Given the description of an element on the screen output the (x, y) to click on. 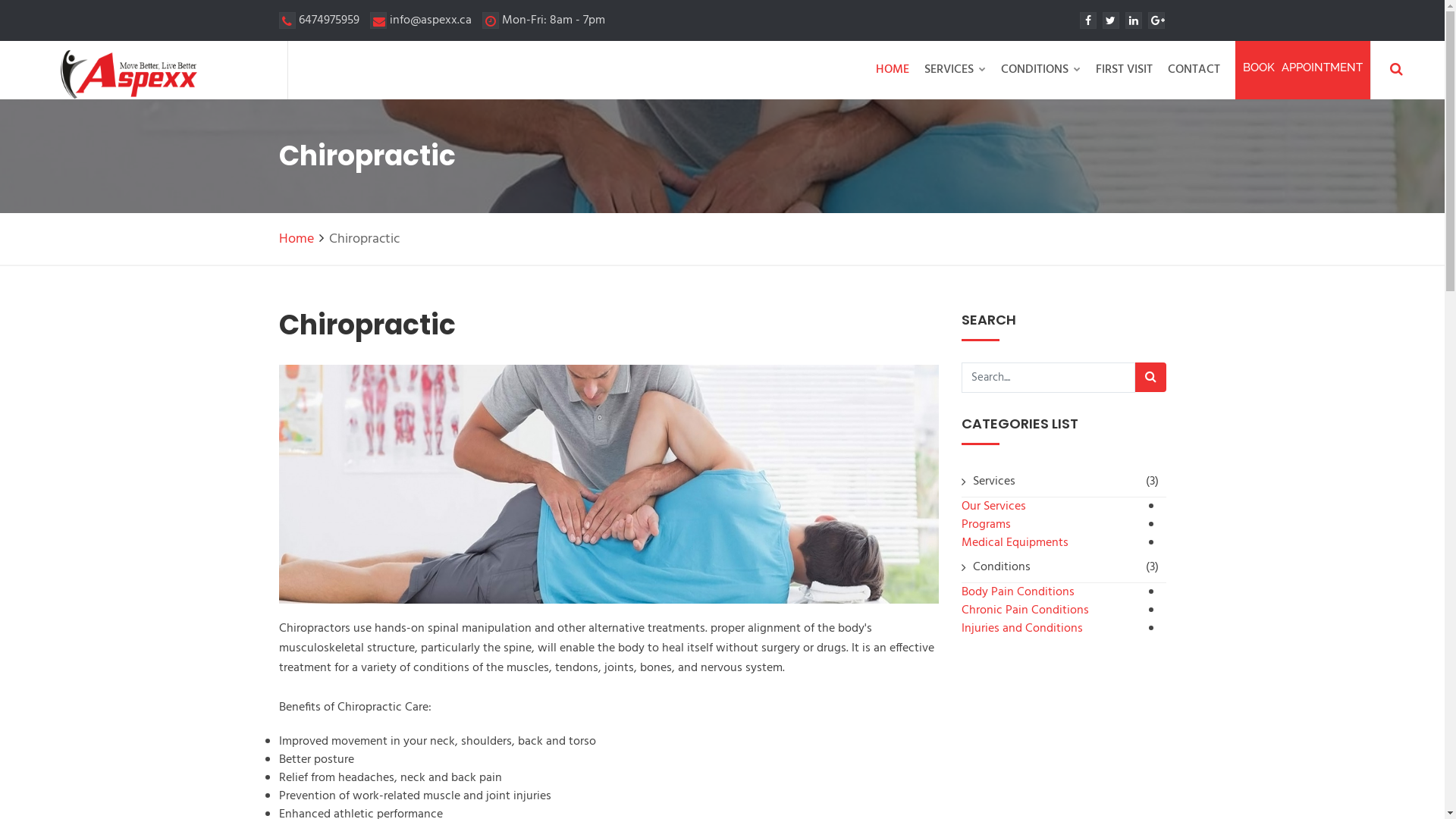
Chiropractic Element type: hover (608, 483)
Programs Element type: text (985, 524)
6474975959 Element type: text (319, 20)
Mon-Fri: 8am - 7pm Element type: text (543, 20)
HOME Element type: text (892, 69)
Conditions Element type: text (1000, 566)
Body Pain Conditions Element type: text (1017, 592)
BOOK APPOINTMENT Element type: text (1302, 69)
FIRST VISIT Element type: text (1124, 69)
Chronic Pain Conditions Element type: text (1024, 610)
Injuries and Conditions Element type: text (1021, 628)
CONTACT Element type: text (1193, 69)
Our Services Element type: text (993, 506)
Services Element type: text (993, 481)
Medical Equipments Element type: text (1014, 542)
Home Element type: text (296, 239)
SERVICES Element type: text (954, 69)
info@aspexx.ca Element type: text (420, 20)
CONDITIONS Element type: text (1040, 69)
